Given the description of an element on the screen output the (x, y) to click on. 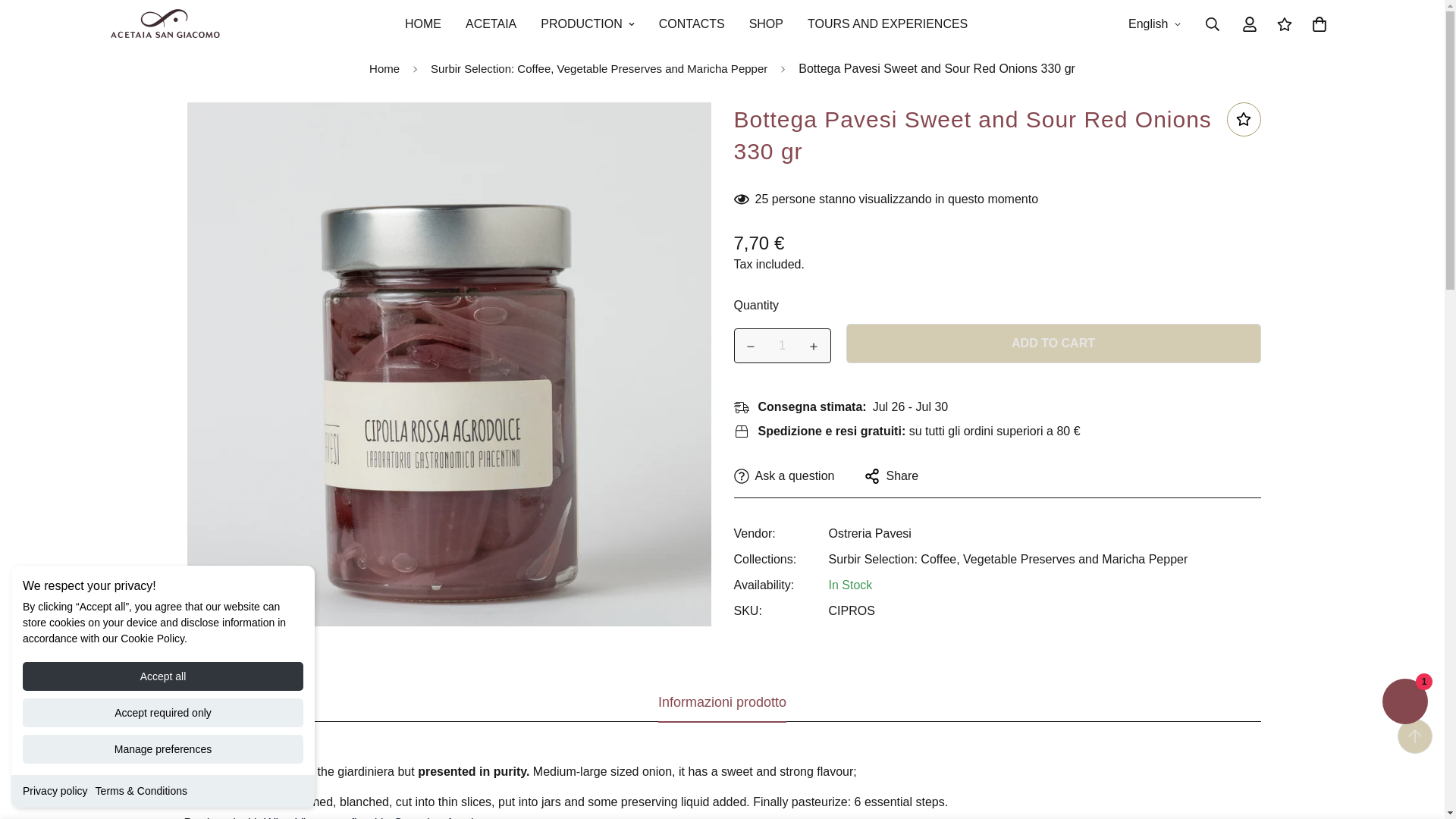
SHOP (686, 23)
Acetaia San Giacomo (765, 23)
Shopify online store chat (164, 23)
ACETAIA (1404, 703)
Back to the home page (490, 23)
Privacy policy (686, 23)
CONTACTS (384, 69)
TOURS AND EXPERIENCES (55, 790)
1 (691, 23)
Accept required only (886, 23)
Home (782, 345)
HOME (162, 712)
